Given the description of an element on the screen output the (x, y) to click on. 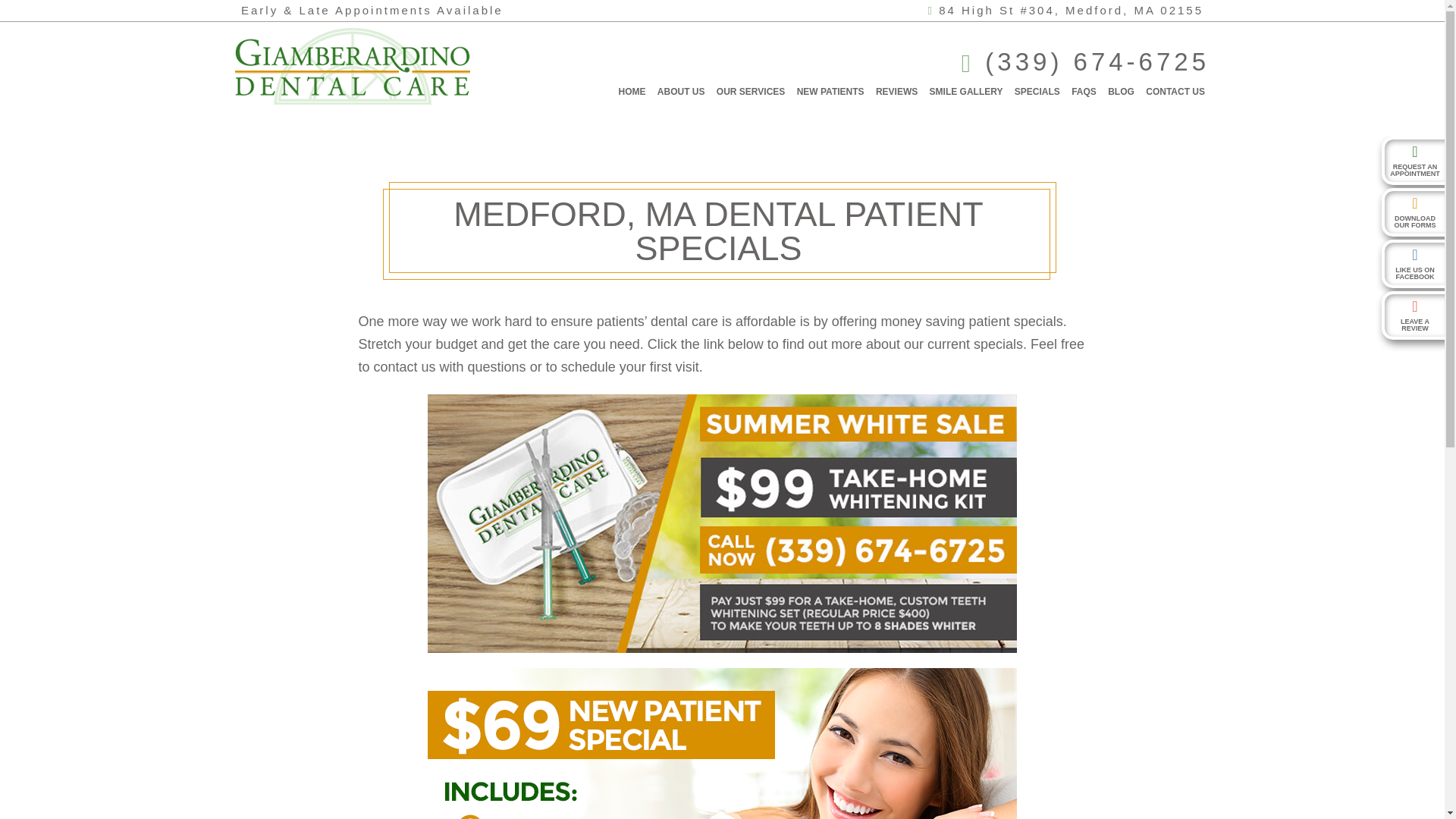
ABOUT US (681, 91)
About Us (681, 91)
HOME (632, 91)
CONTACT US (1175, 91)
New Patients (830, 91)
SPECIALS (1037, 91)
Our Services (750, 91)
Medford General Dentistry (632, 91)
SMILE GALLERY (965, 91)
OUR SERVICES (750, 91)
FAQS (1083, 91)
BLOG (1120, 91)
REVIEWS (895, 91)
Reviews (895, 91)
NEW PATIENTS (830, 91)
